Given the description of an element on the screen output the (x, y) to click on. 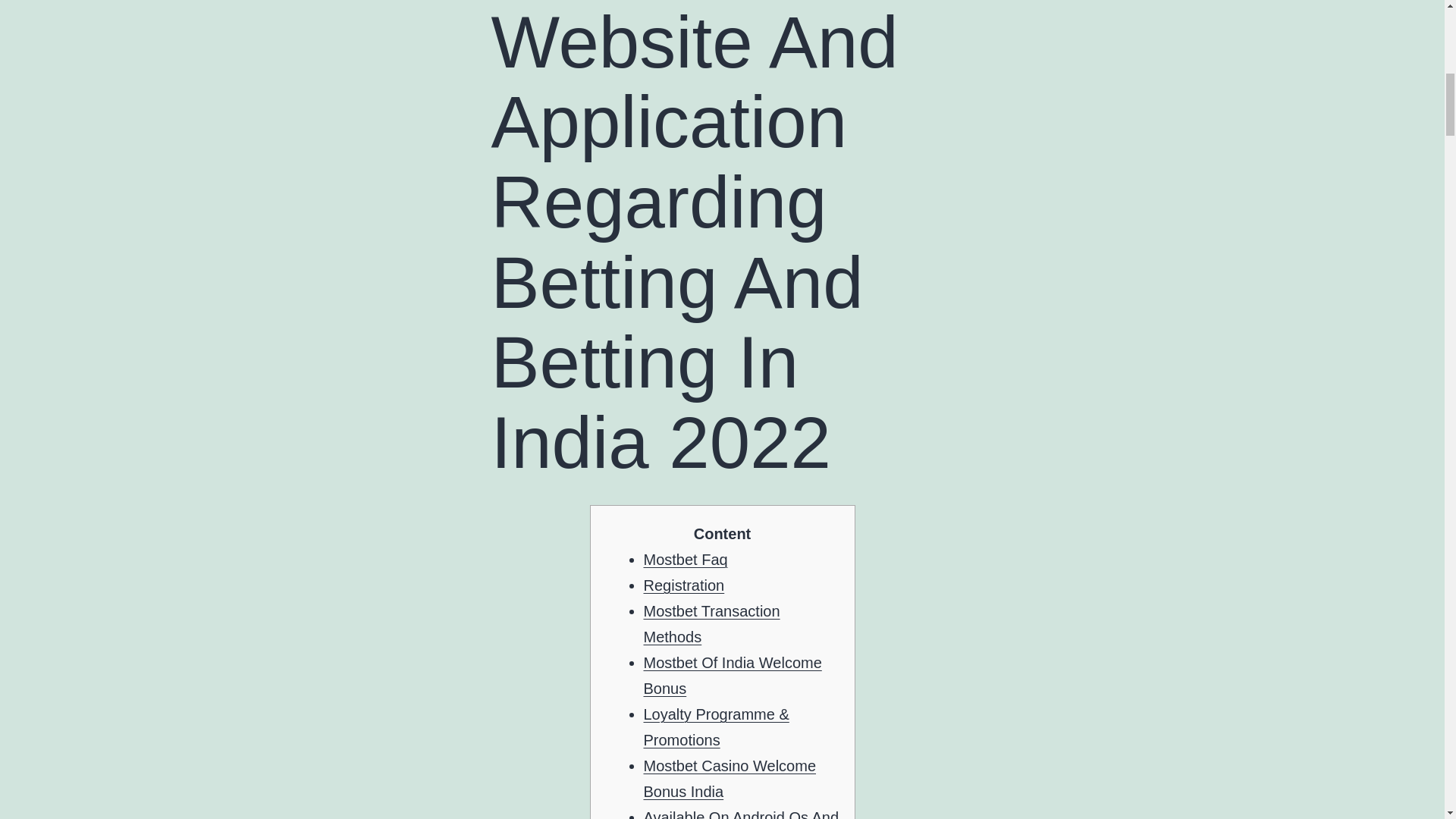
Mostbet Faq (684, 559)
Mostbet Of India Welcome Bonus (732, 675)
Mostbet Casino Welcome Bonus India (729, 778)
Registration (683, 585)
Available On Android Os And Ios Devices (740, 814)
Mostbet Transaction Methods (710, 623)
